Given the description of an element on the screen output the (x, y) to click on. 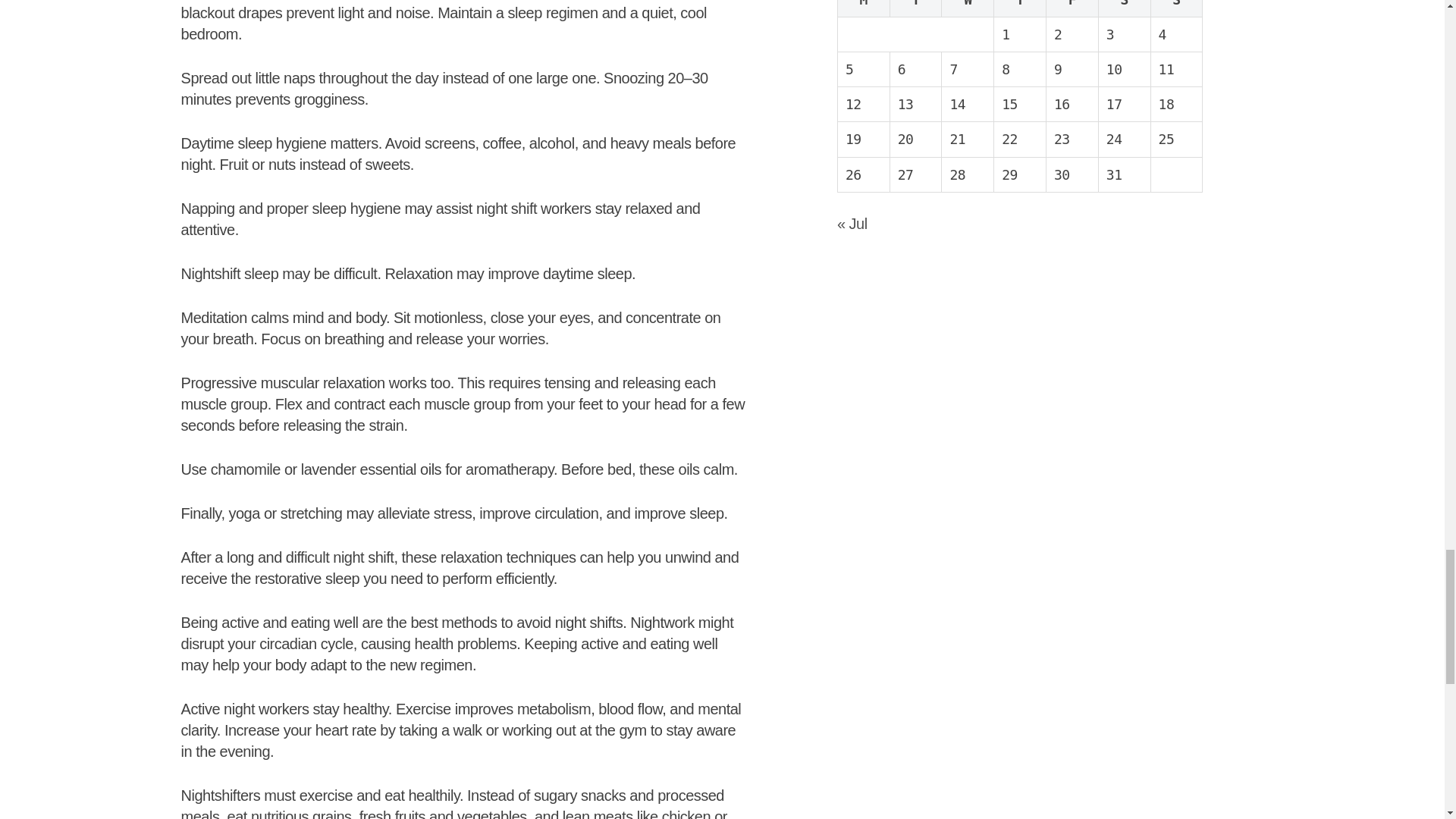
Wednesday (968, 8)
Monday (863, 8)
Saturday (1123, 8)
Thursday (1020, 8)
Friday (1072, 8)
Tuesday (915, 8)
Sunday (1176, 8)
